Given the description of an element on the screen output the (x, y) to click on. 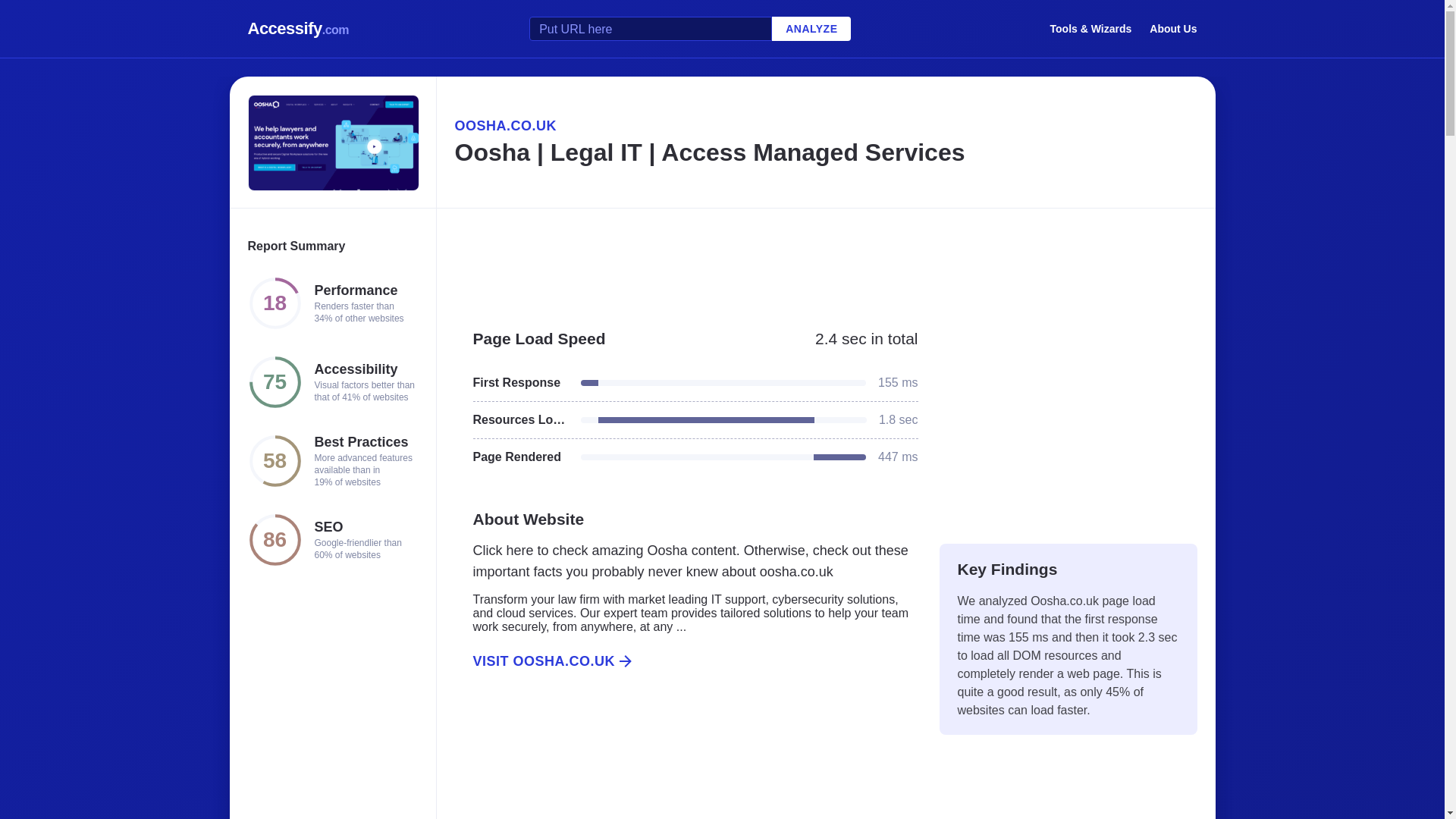
OOSHA.CO.UK (825, 126)
About Us (1173, 28)
ANALYZE (810, 28)
Accessify.com (298, 28)
Advertisement (825, 260)
Advertisement (686, 761)
VISIT OOSHA.CO.UK (686, 660)
Advertisement (1067, 418)
